Given the description of an element on the screen output the (x, y) to click on. 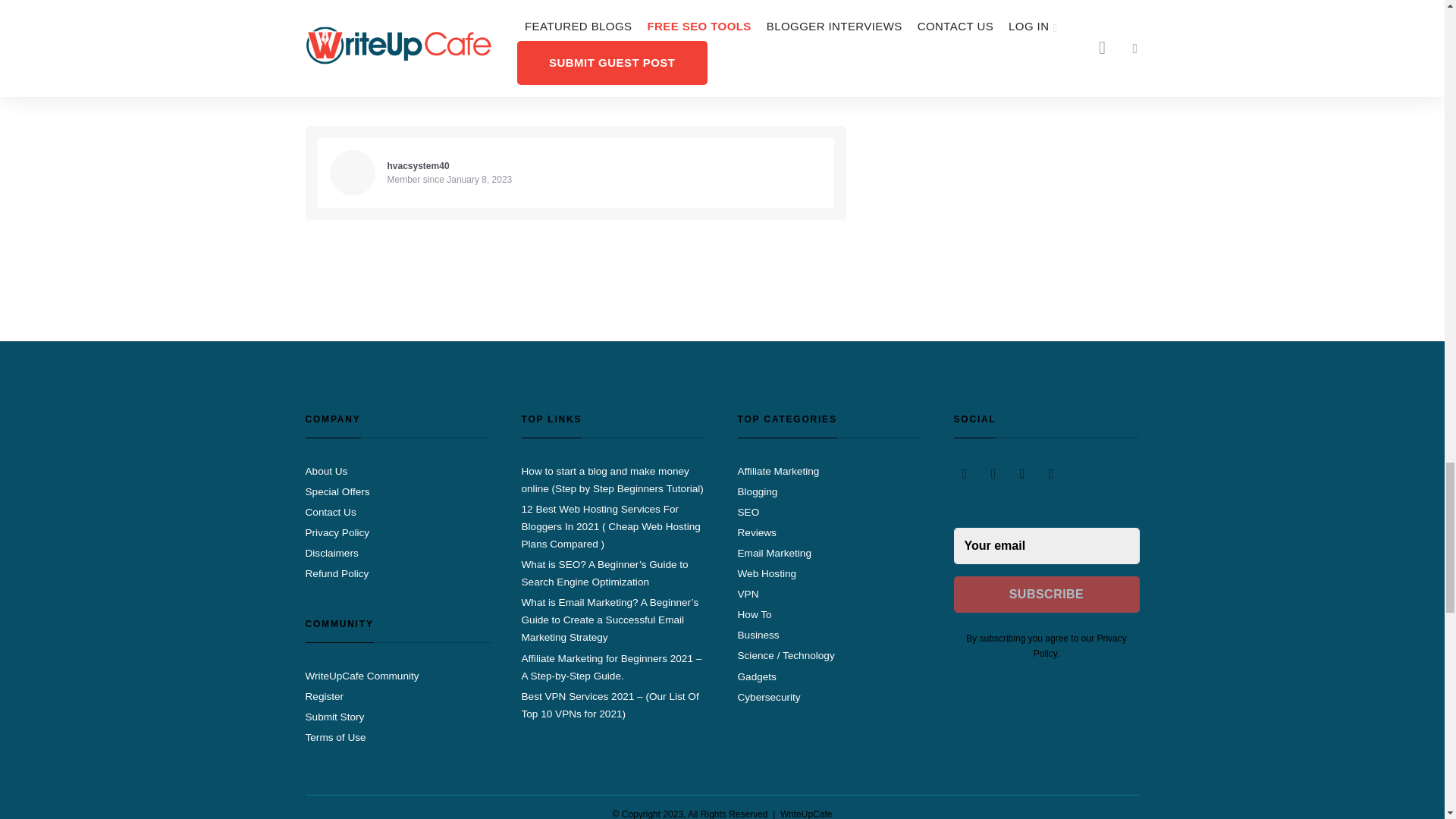
hvacsystem40 (417, 165)
